Given the description of an element on the screen output the (x, y) to click on. 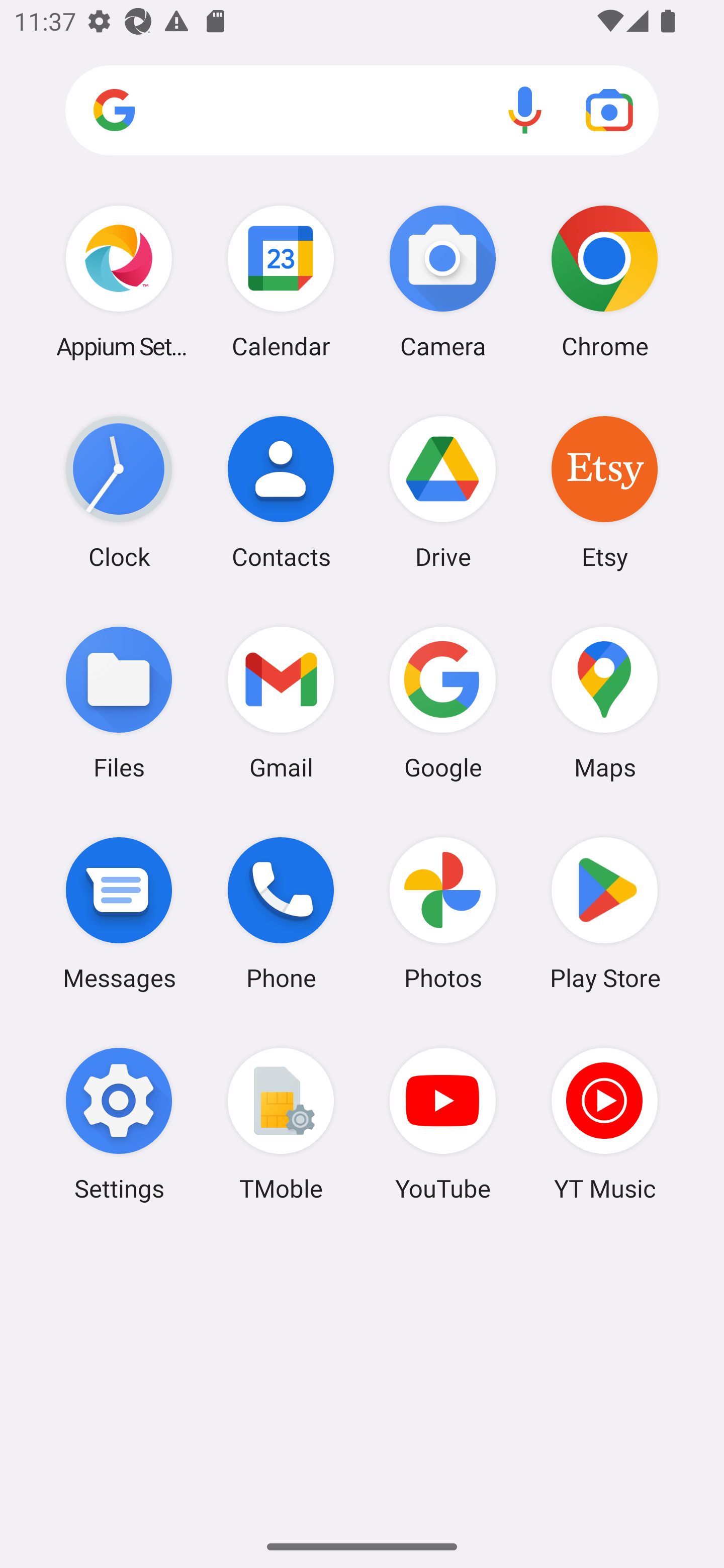
Search apps, web and more (361, 110)
Voice search (524, 109)
Google Lens (608, 109)
Appium Settings (118, 281)
Calendar (280, 281)
Camera (443, 281)
Chrome (604, 281)
Clock (118, 492)
Contacts (280, 492)
Drive (443, 492)
Etsy (604, 492)
Files (118, 702)
Gmail (280, 702)
Google (443, 702)
Maps (604, 702)
Messages (118, 913)
Phone (280, 913)
Photos (443, 913)
Play Store (604, 913)
Settings (118, 1124)
TMoble (280, 1124)
YouTube (443, 1124)
YT Music (604, 1124)
